Given the description of an element on the screen output the (x, y) to click on. 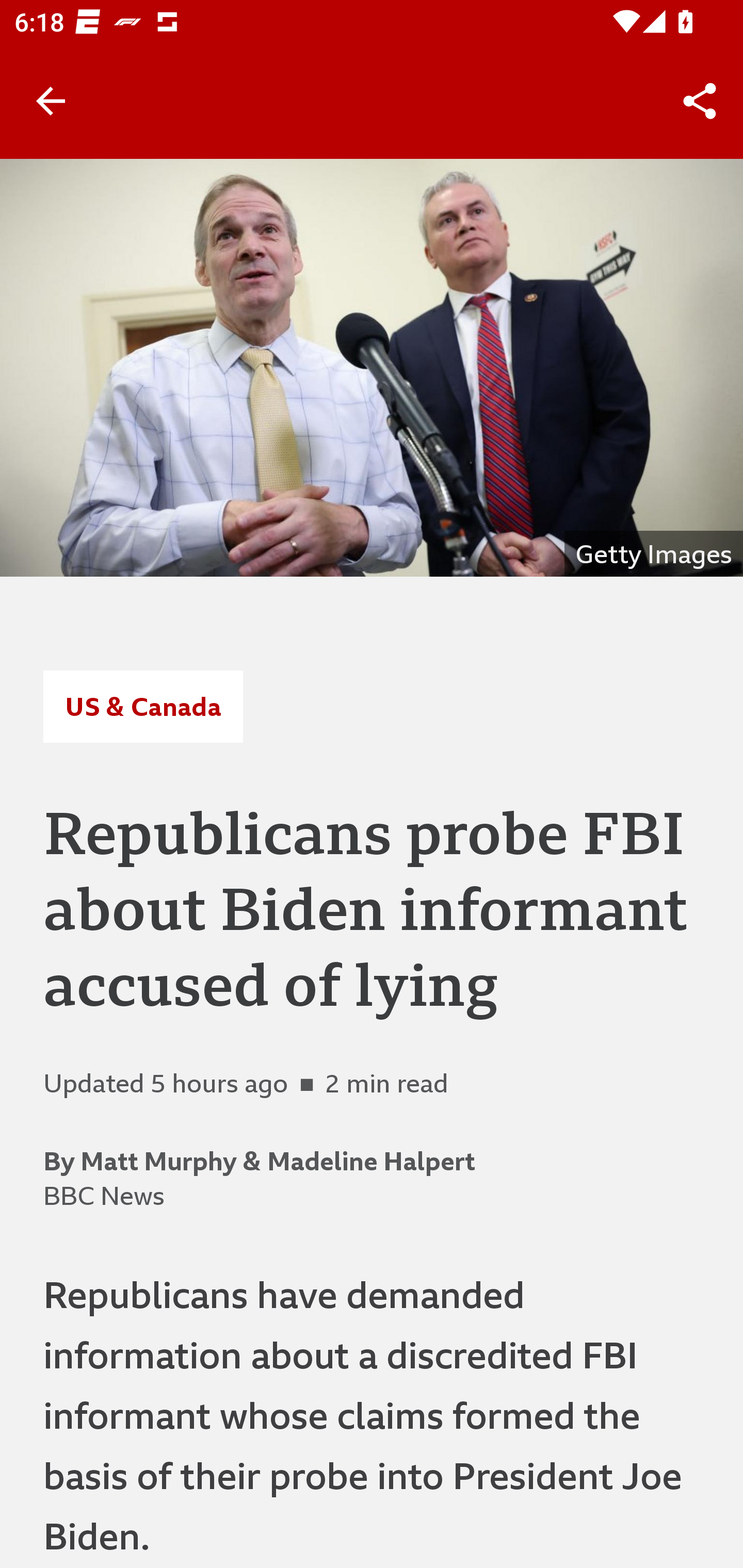
Back (50, 101)
Share (699, 101)
US & Canada (142, 706)
